Given the description of an element on the screen output the (x, y) to click on. 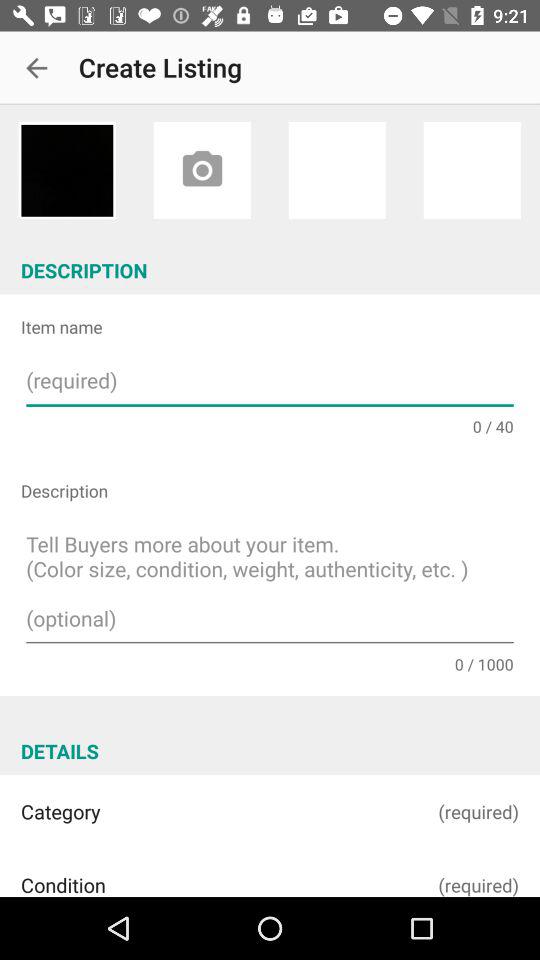
tap the icon above 0 / 1000 (270, 584)
